Given the description of an element on the screen output the (x, y) to click on. 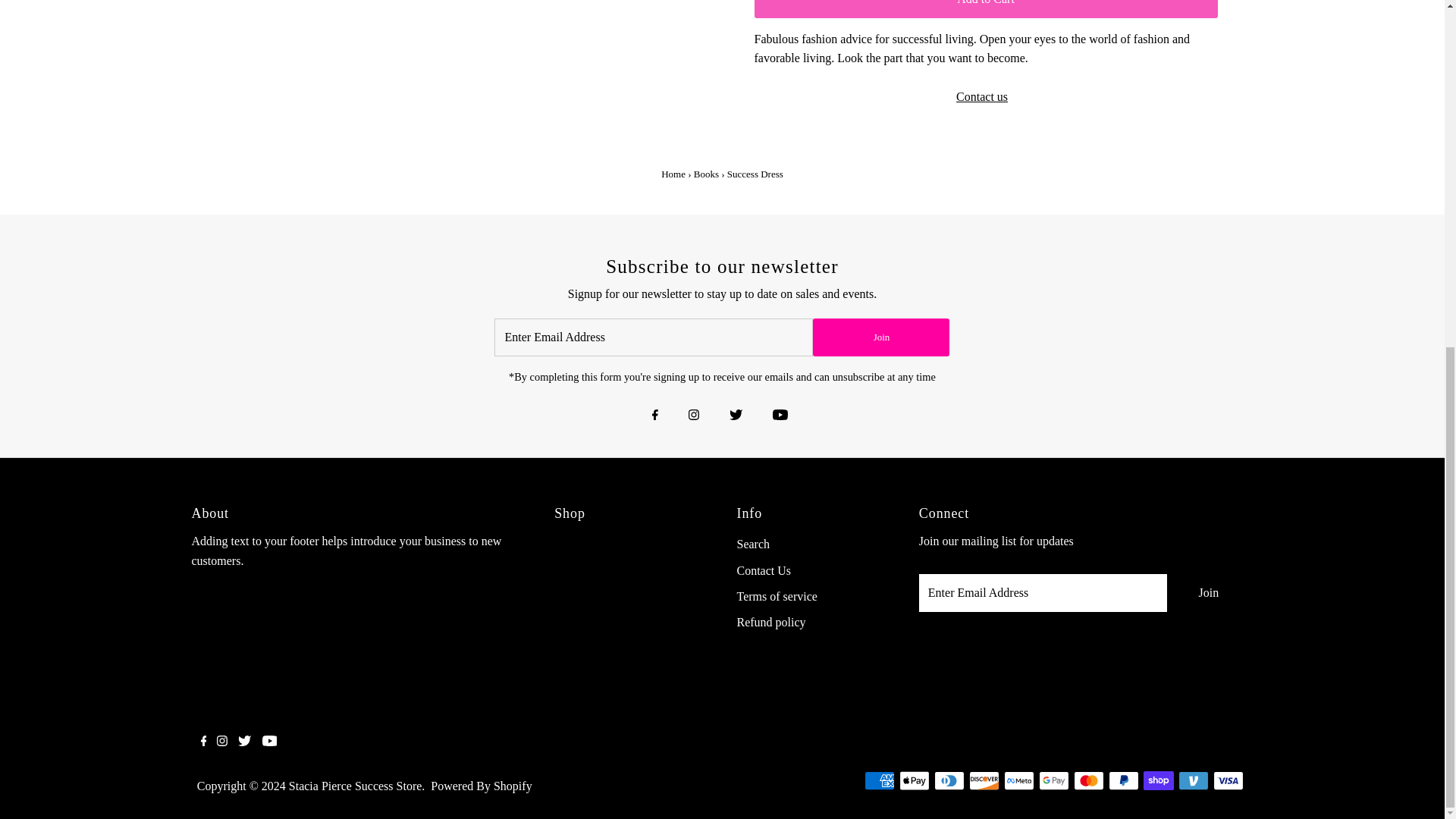
Discover (983, 780)
Diners Club (948, 780)
Join (1208, 592)
Home (673, 173)
Apple Pay (914, 780)
Add to Cart (985, 8)
American Express (879, 780)
